Given the description of an element on the screen output the (x, y) to click on. 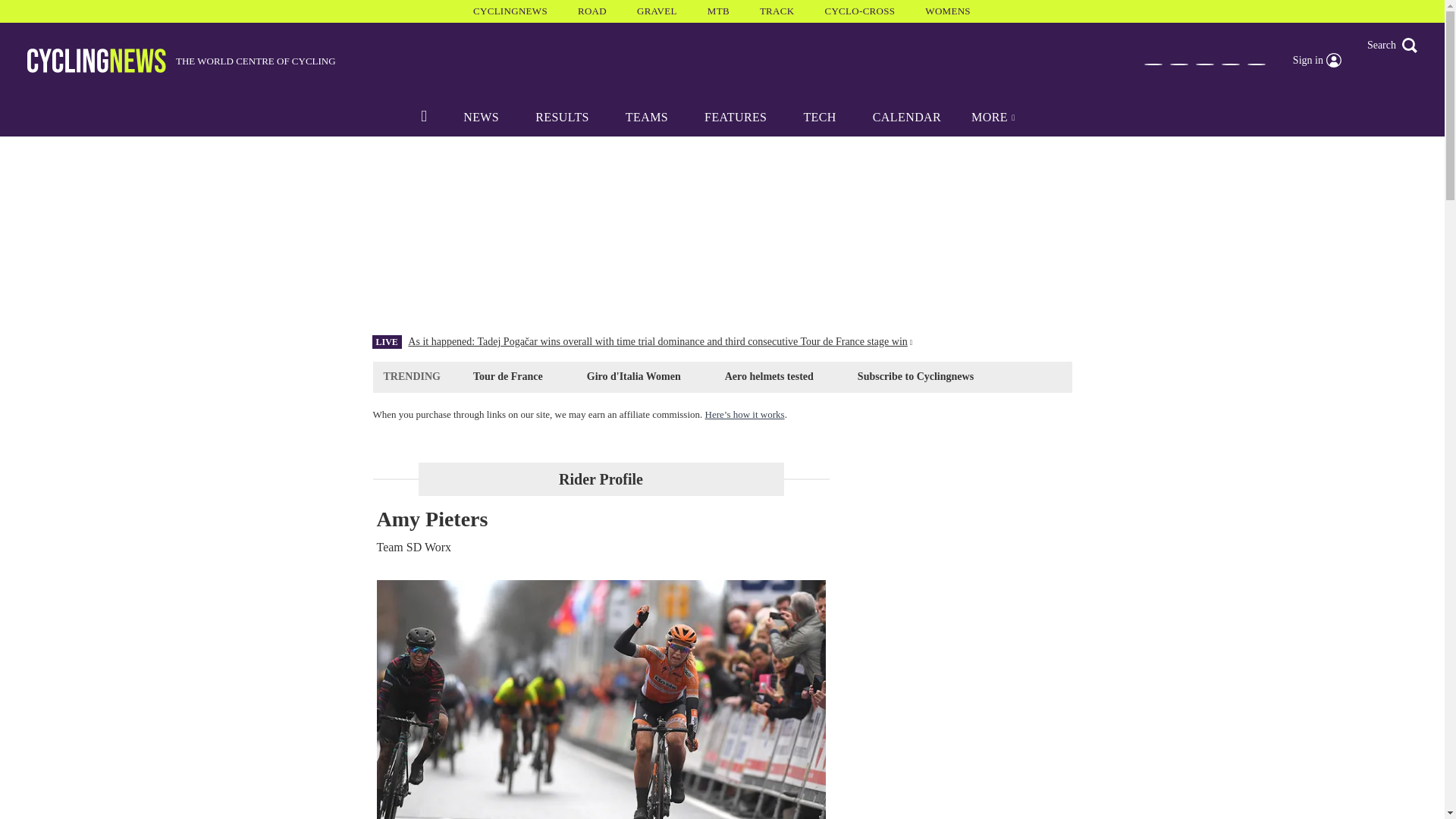
Aero helmets tested (768, 376)
NEWS (480, 117)
Tour de France (507, 376)
ROAD (592, 10)
THE WORLD CENTRE OF CYCLING (181, 60)
RESULTS (561, 117)
TECH (818, 117)
WOMENS (947, 10)
GRAVEL (657, 10)
CALENDAR (906, 117)
Giro d'Italia Women (632, 376)
FEATURES (734, 117)
CYCLO-CROSS (859, 10)
Subscribe to Cyclingnews (914, 376)
TRACK (777, 10)
